Given the description of an element on the screen output the (x, y) to click on. 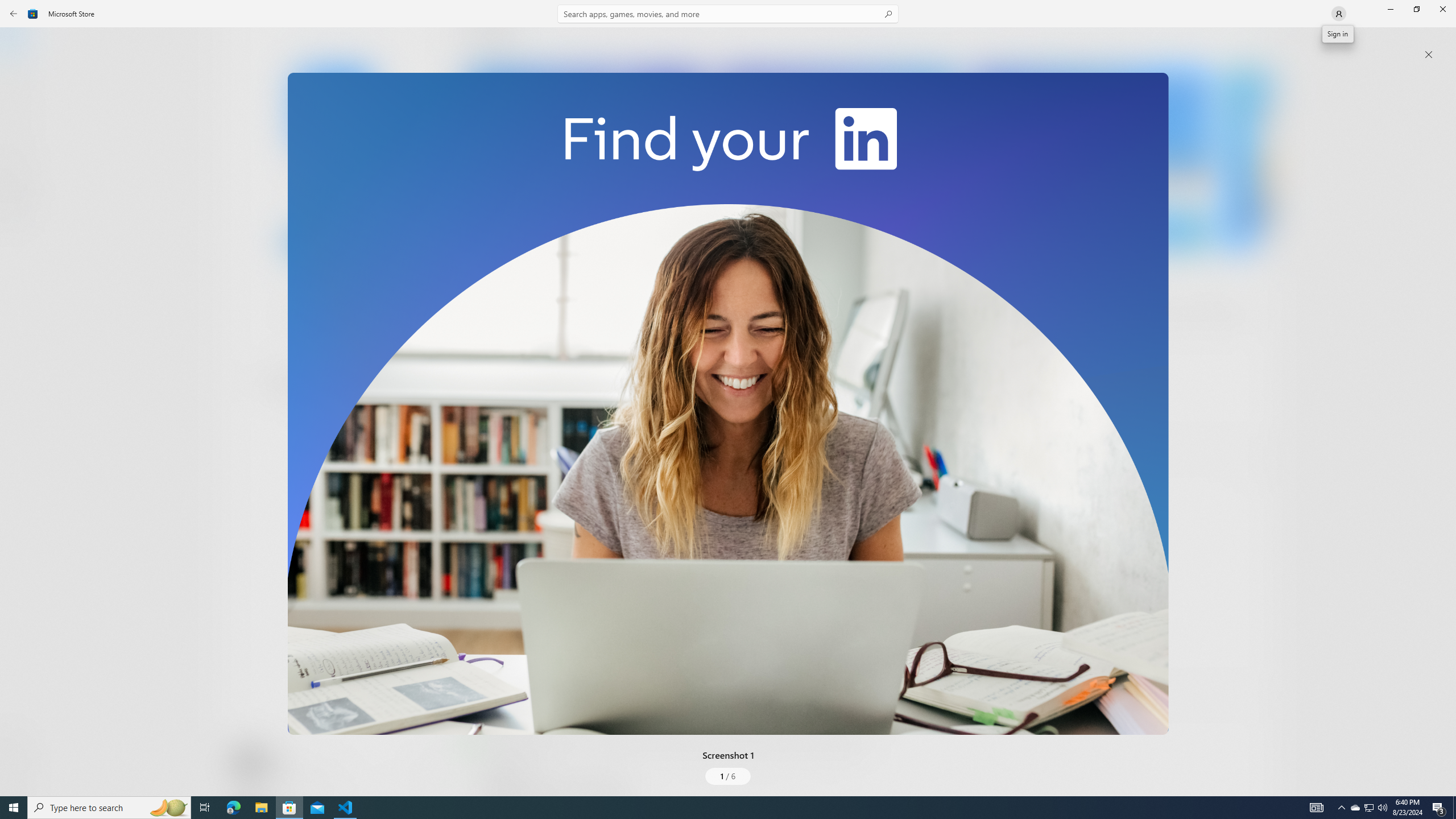
What's New (20, 738)
